Given the description of an element on the screen output the (x, y) to click on. 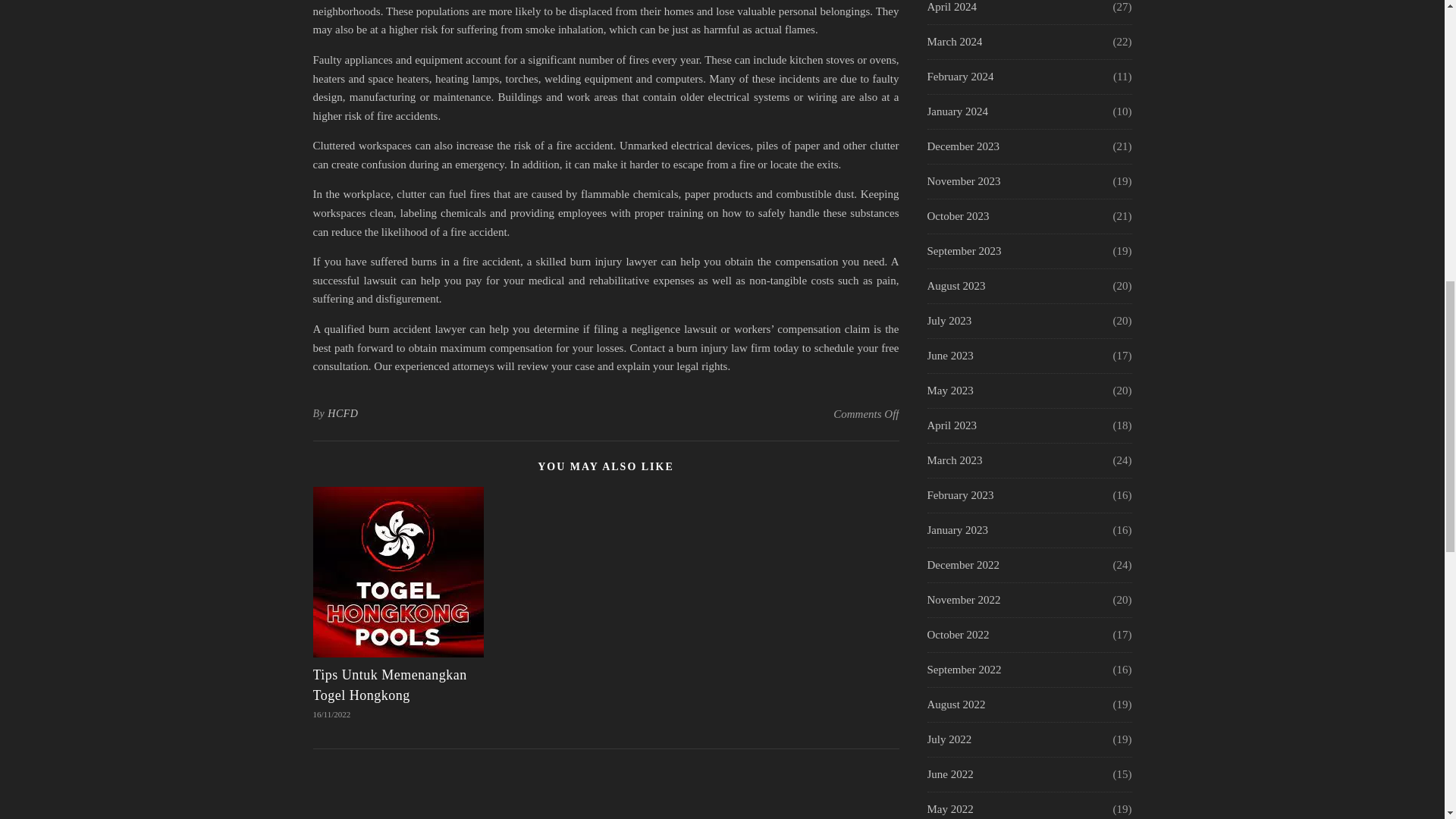
March 2023 (953, 460)
January 2023 (956, 530)
Tips Untuk Memenangkan Togel Hongkong (389, 684)
January 2024 (956, 111)
October 2023 (957, 216)
April 2023 (950, 425)
June 2023 (949, 356)
HCFD (342, 413)
December 2023 (962, 146)
August 2023 (955, 286)
February 2024 (959, 76)
May 2023 (949, 390)
November 2023 (963, 181)
Posts by HCFD (342, 413)
September 2023 (963, 251)
